Given the description of an element on the screen output the (x, y) to click on. 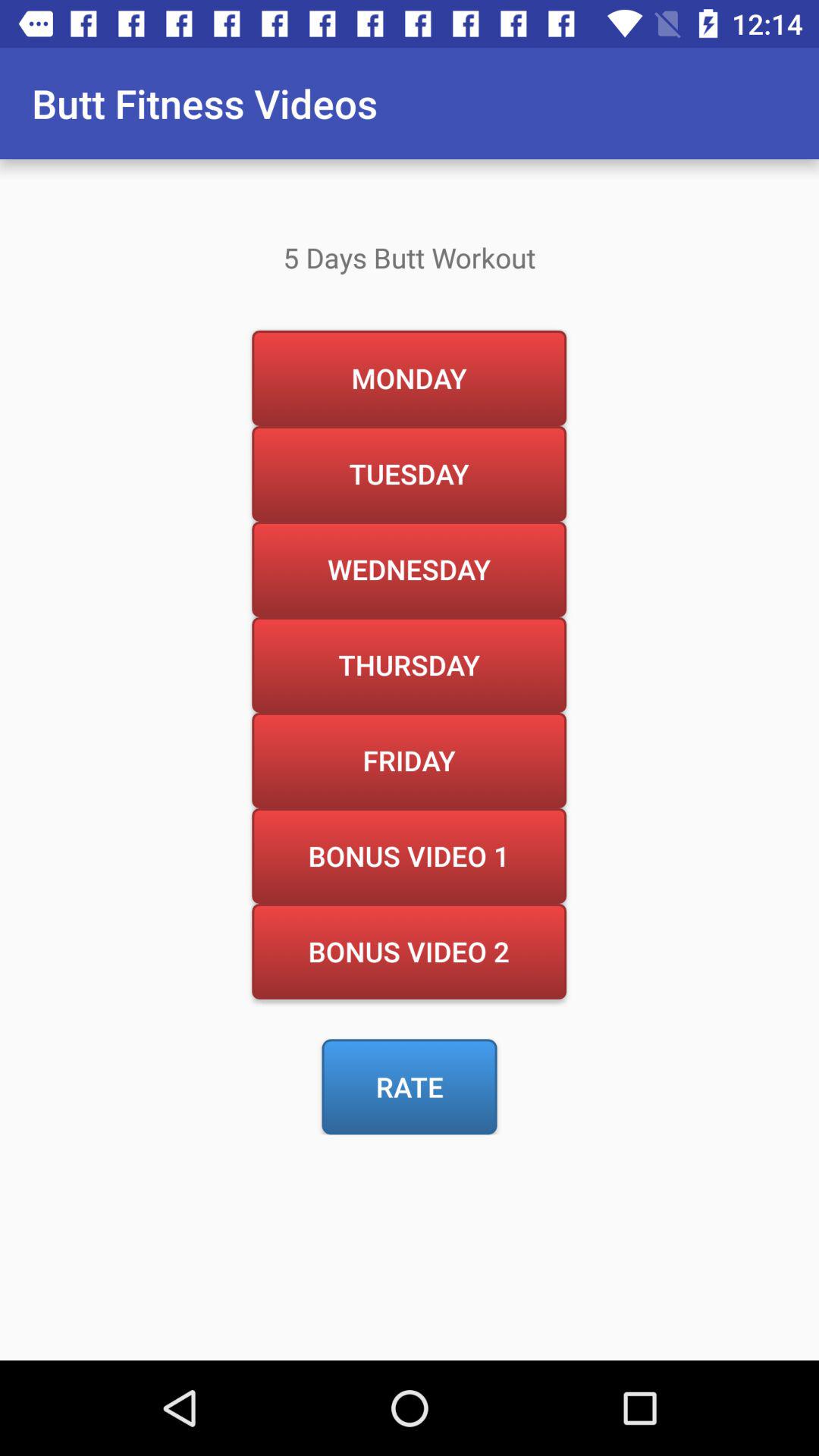
scroll to the rate icon (409, 1086)
